Given the description of an element on the screen output the (x, y) to click on. 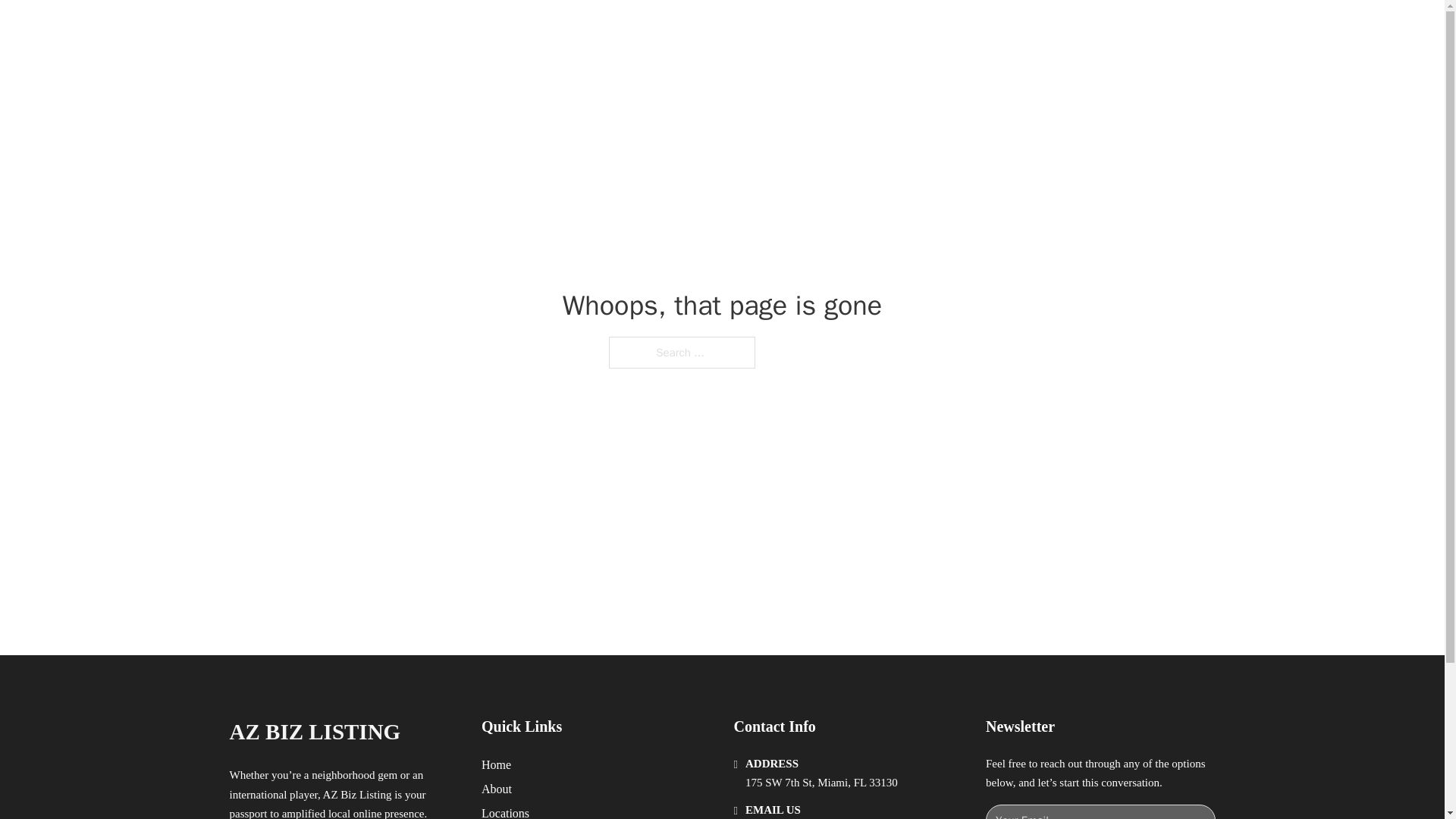
AZ BIZ LISTING (387, 28)
AZ BIZ LISTING (314, 732)
HOME (919, 29)
LOCATIONS (990, 29)
About (496, 788)
Locations (505, 811)
Home (496, 764)
